Given the description of an element on the screen output the (x, y) to click on. 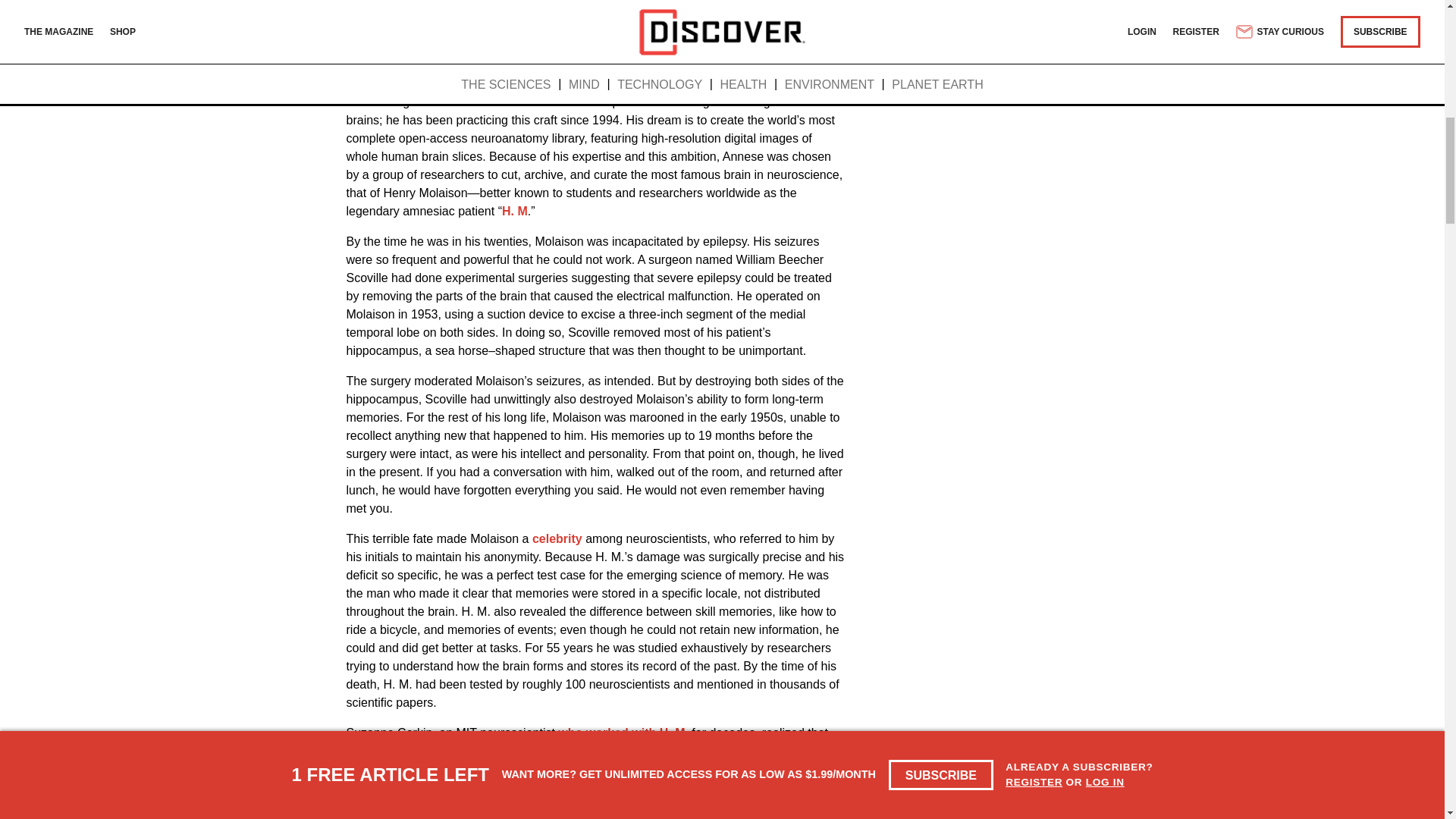
Jacopo Annese (540, 83)
H. M (514, 210)
celebrity (557, 538)
who worked with H. M. (622, 732)
